Given the description of an element on the screen output the (x, y) to click on. 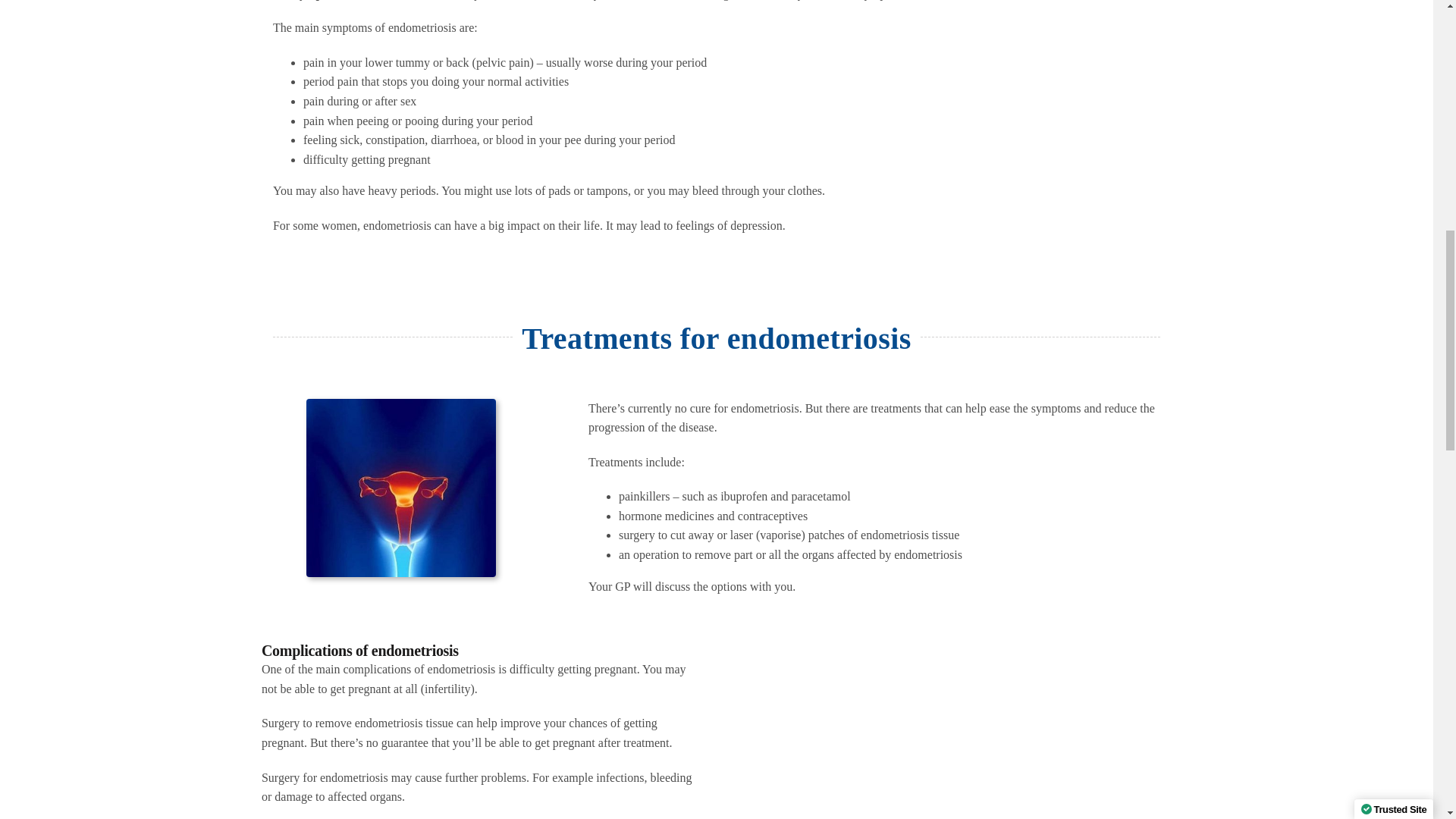
endometriosis-procedure (400, 487)
